Given the description of an element on the screen output the (x, y) to click on. 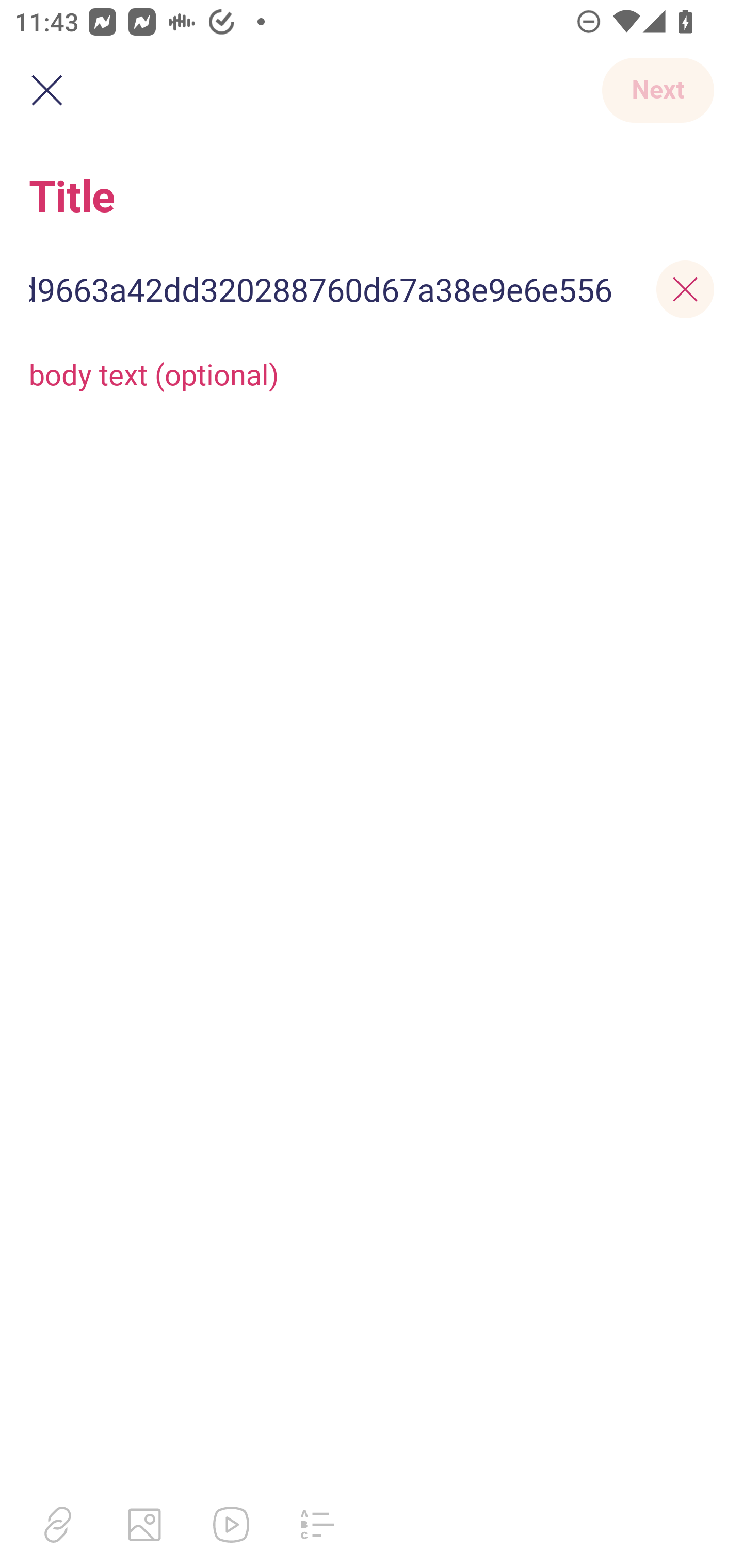
Close (46, 90)
Next (657, 90)
Post title (371, 195)
Remove link (685, 289)
body text (optional) (371, 373)
